Given the description of an element on the screen output the (x, y) to click on. 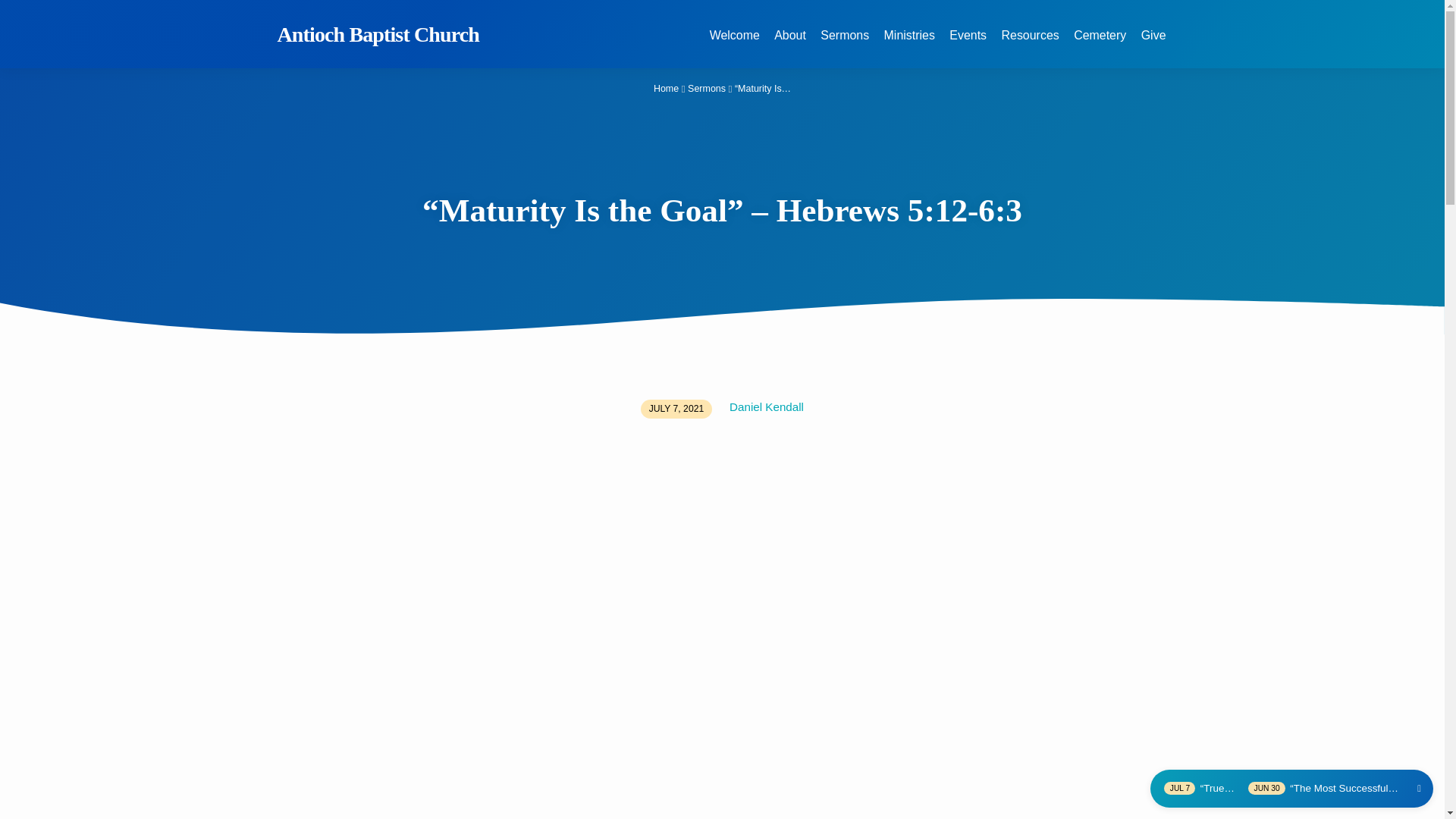
Home (665, 88)
Cemetery (1099, 44)
Resources (1030, 44)
Antioch Baptist Church (379, 33)
Events (968, 44)
Sermons (845, 44)
Ministries (908, 44)
Welcome (735, 44)
Daniel Kendall (766, 406)
Sermons (706, 88)
